Given the description of an element on the screen output the (x, y) to click on. 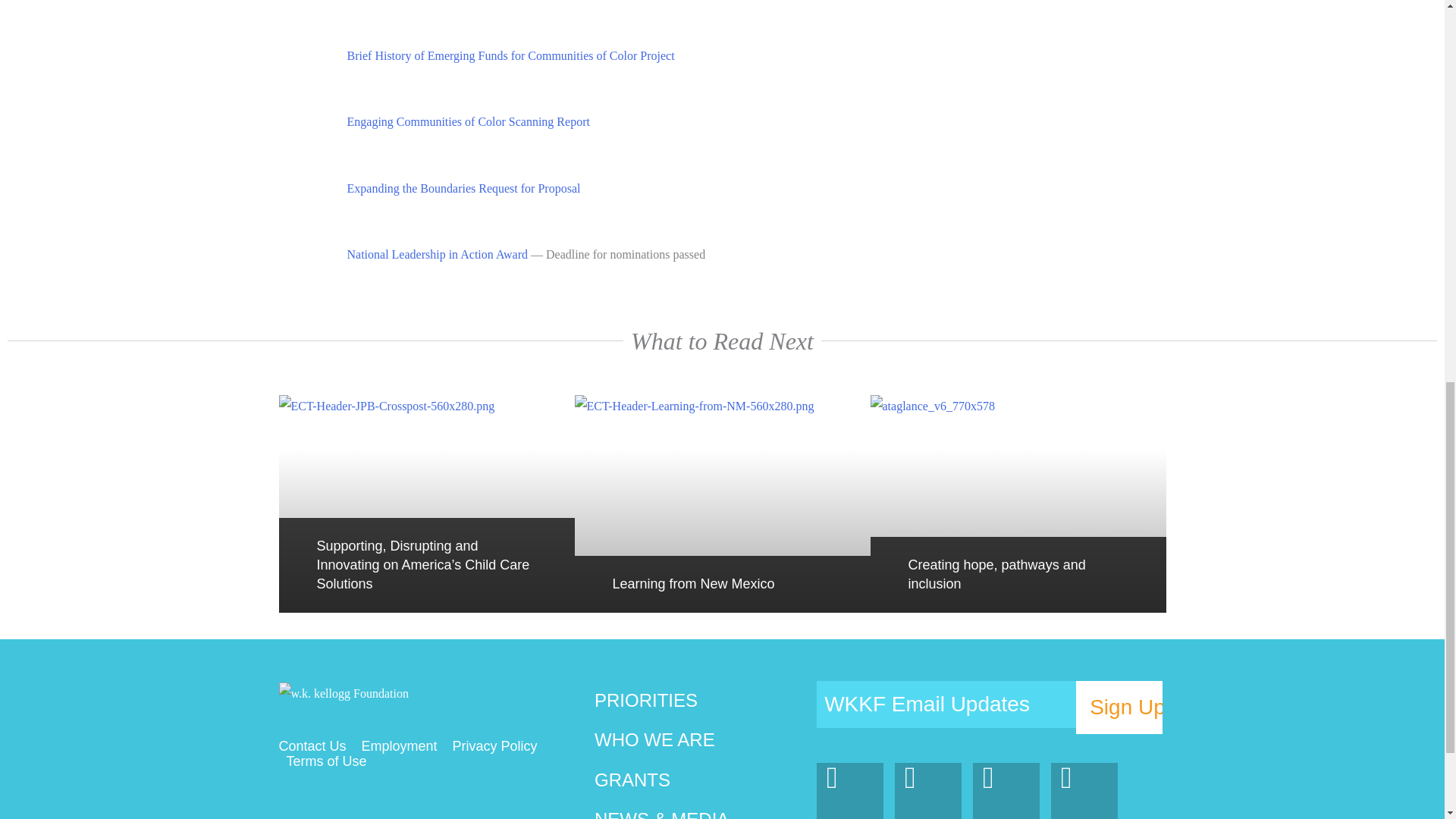
Sign Up (1118, 706)
